Given the description of an element on the screen output the (x, y) to click on. 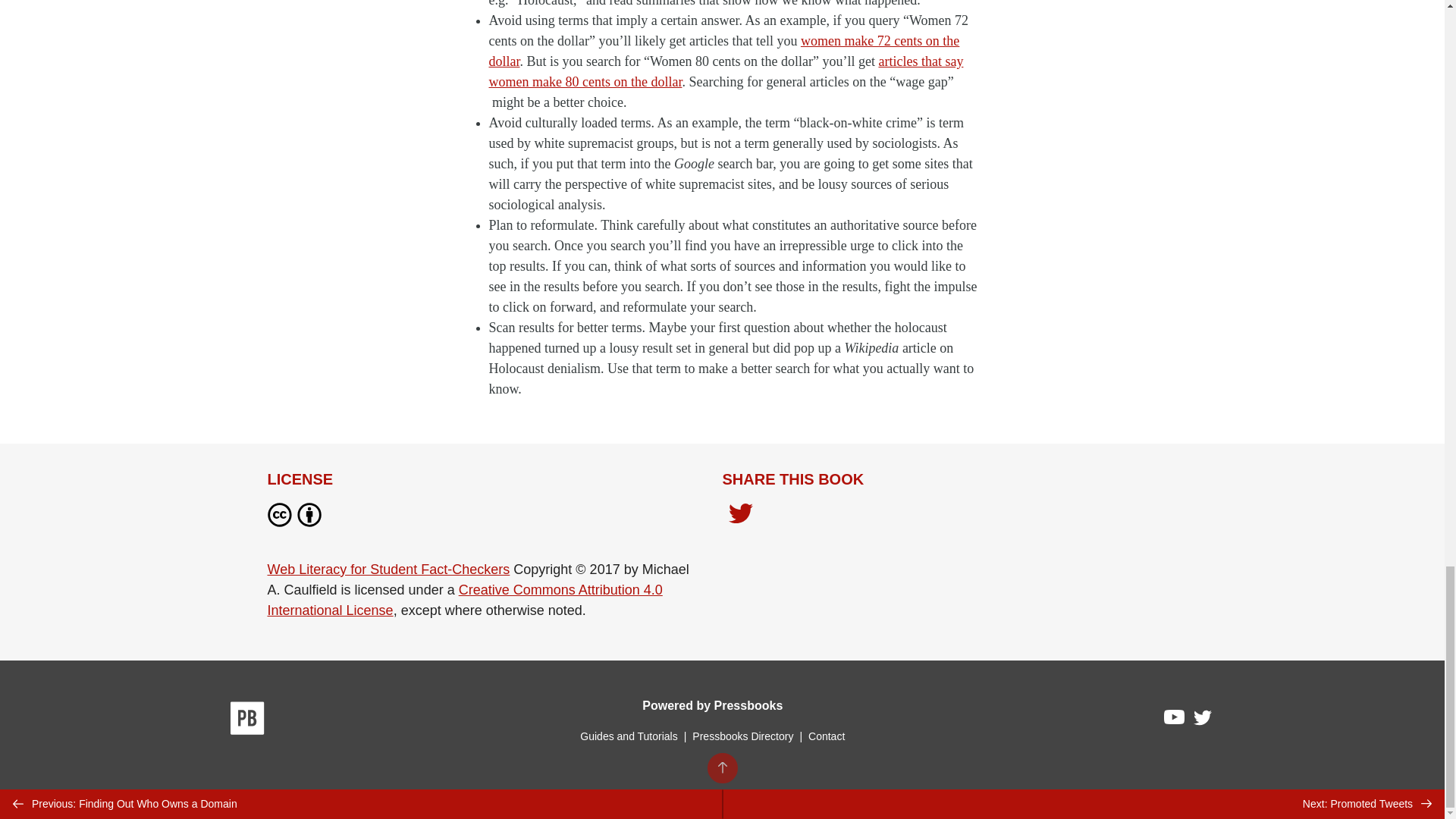
Pressbooks Directory (742, 736)
Creative Commons Attribution 4.0 International License (464, 599)
Share on Twitter (740, 517)
women make 72 cents on the dollar (723, 50)
Contact (826, 736)
Powered by Pressbooks (712, 704)
articles that say women make 80 cents on the dollar (724, 71)
Pressbooks on YouTube (1174, 721)
Guides and Tutorials (627, 736)
Share on Twitter (740, 514)
Pressbooks on Twitter (1202, 720)
Web Literacy for Student Fact-Checkers (387, 569)
Pressbooks (247, 721)
